Given the description of an element on the screen output the (x, y) to click on. 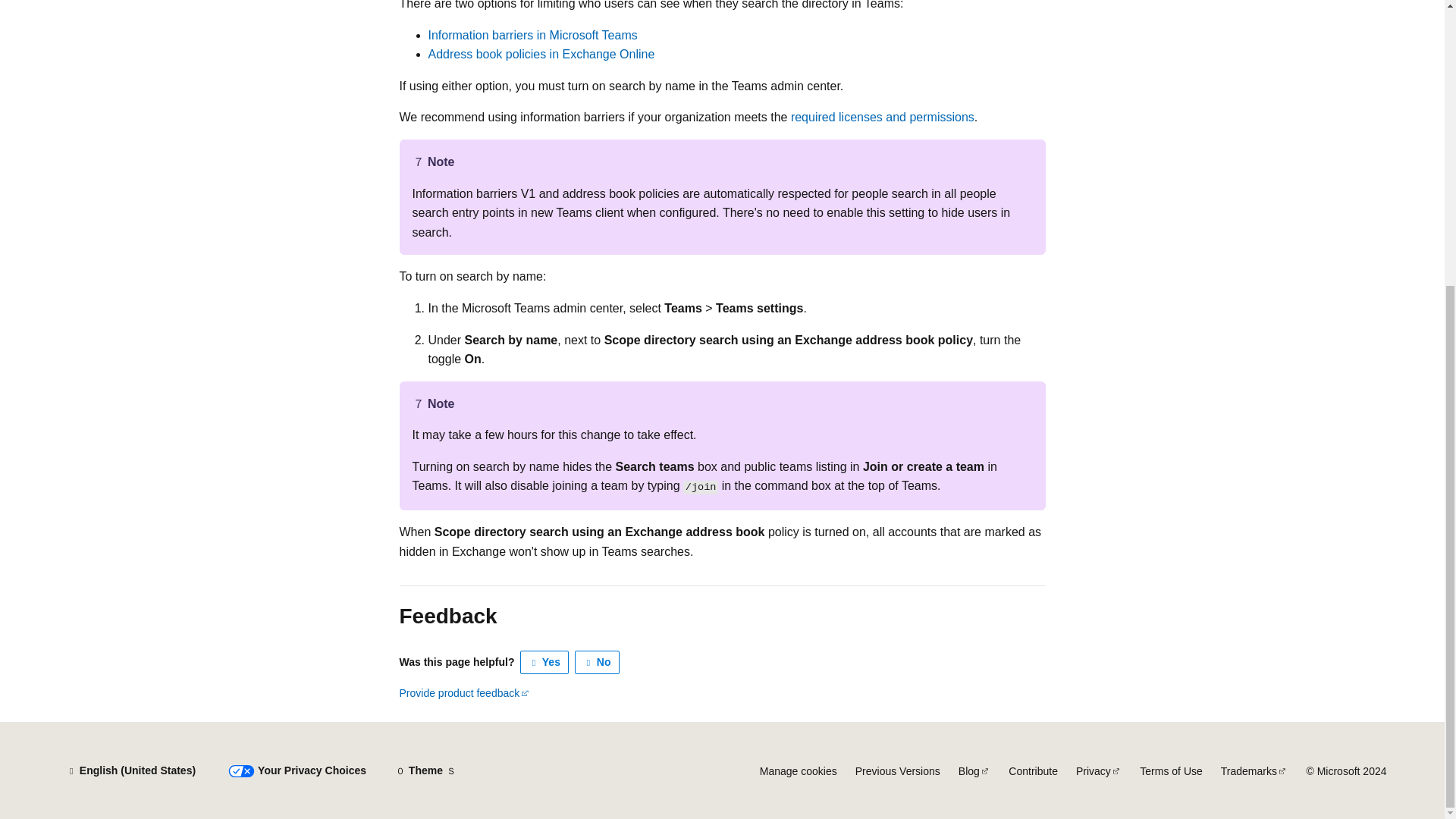
Theme (425, 770)
This article is not helpful (597, 662)
This article is helpful (544, 662)
